Given the description of an element on the screen output the (x, y) to click on. 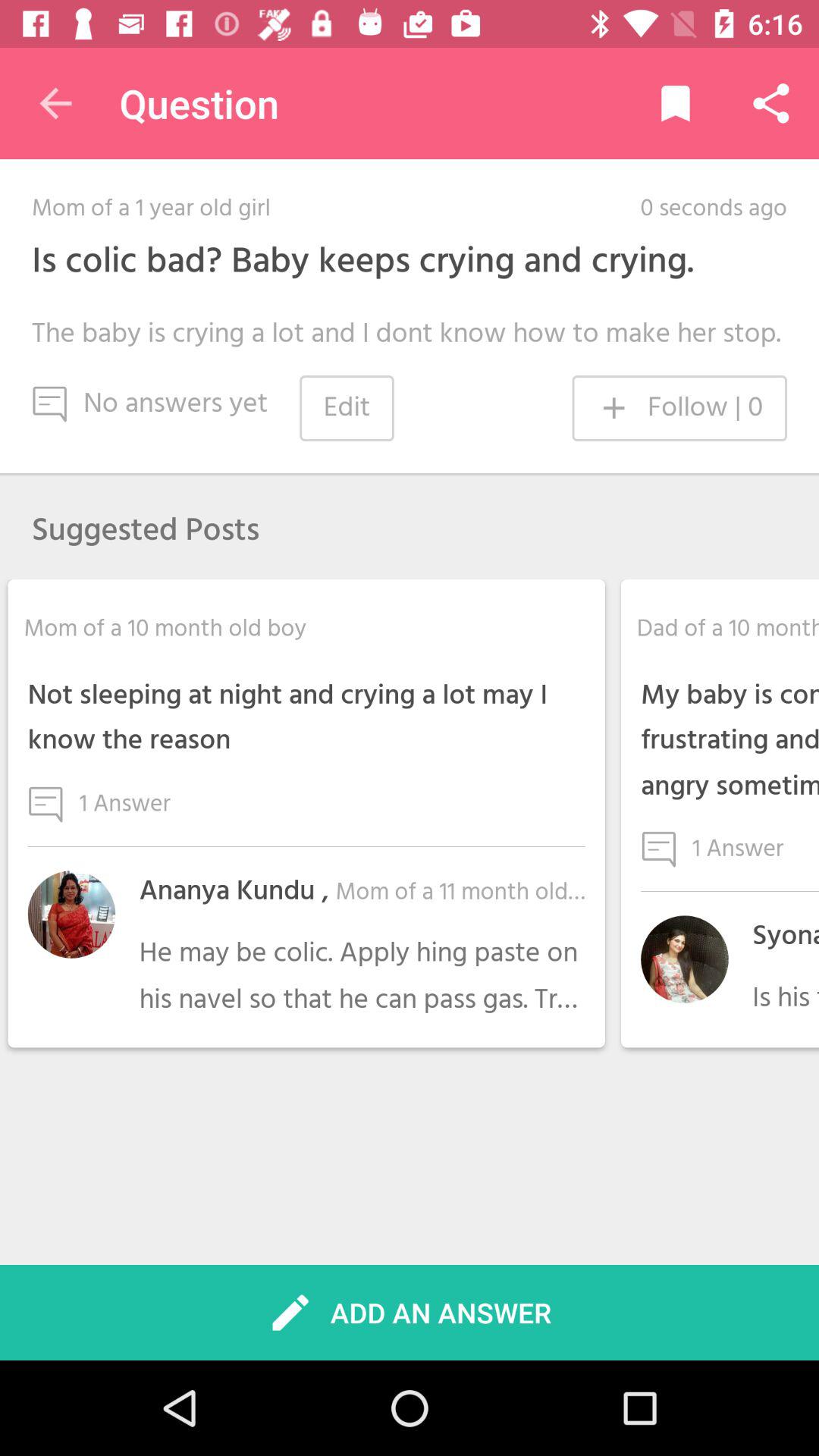
choose item below the the baby is icon (679, 408)
